Given the description of an element on the screen output the (x, y) to click on. 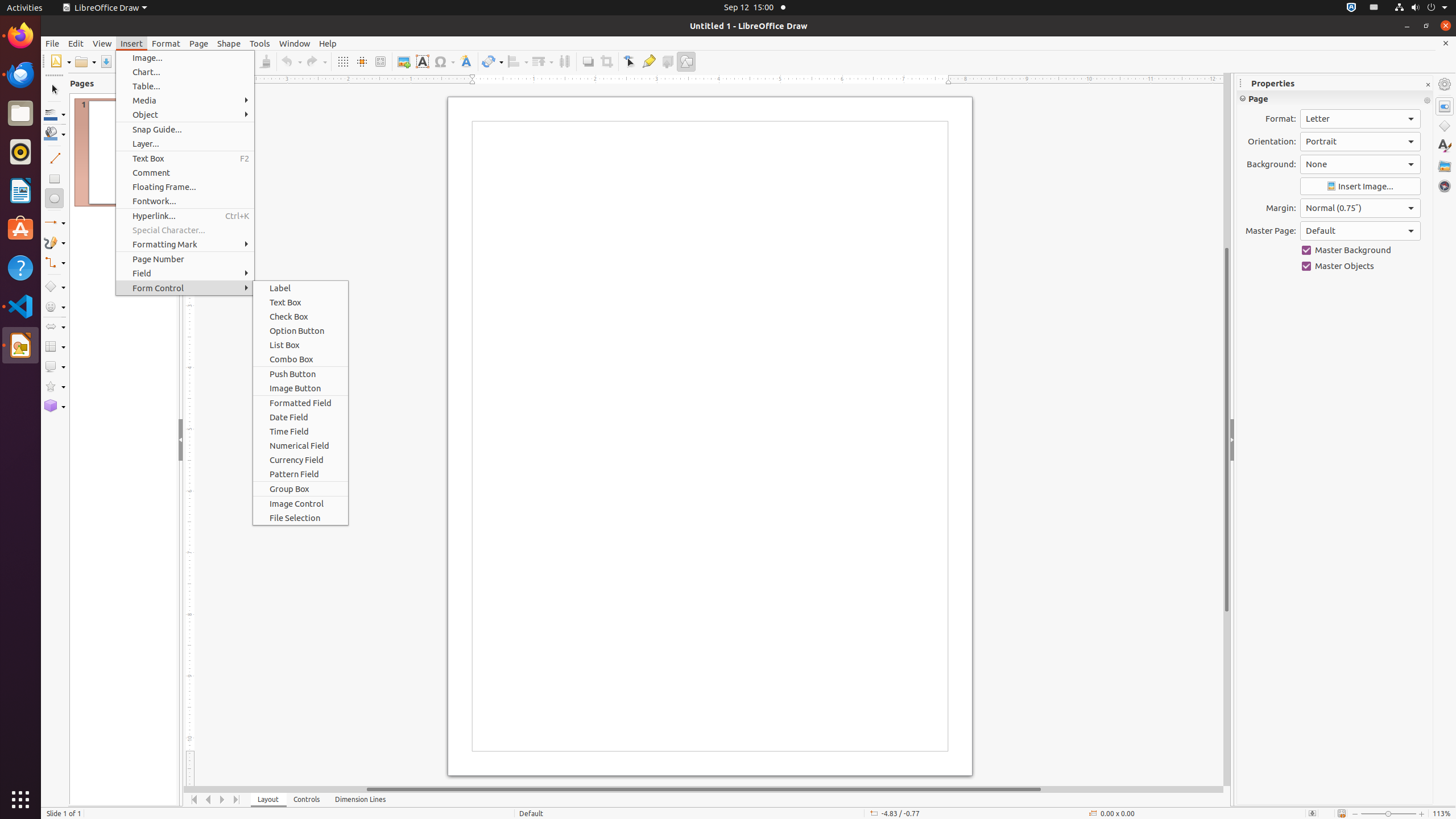
Orientation: Element type: combo-box (1360, 141)
Clone Element type: push-button (264, 61)
Background: Element type: combo-box (1360, 164)
Helplines While Moving Element type: toggle-button (361, 61)
Undo Element type: push-button (290, 61)
